Given the description of an element on the screen output the (x, y) to click on. 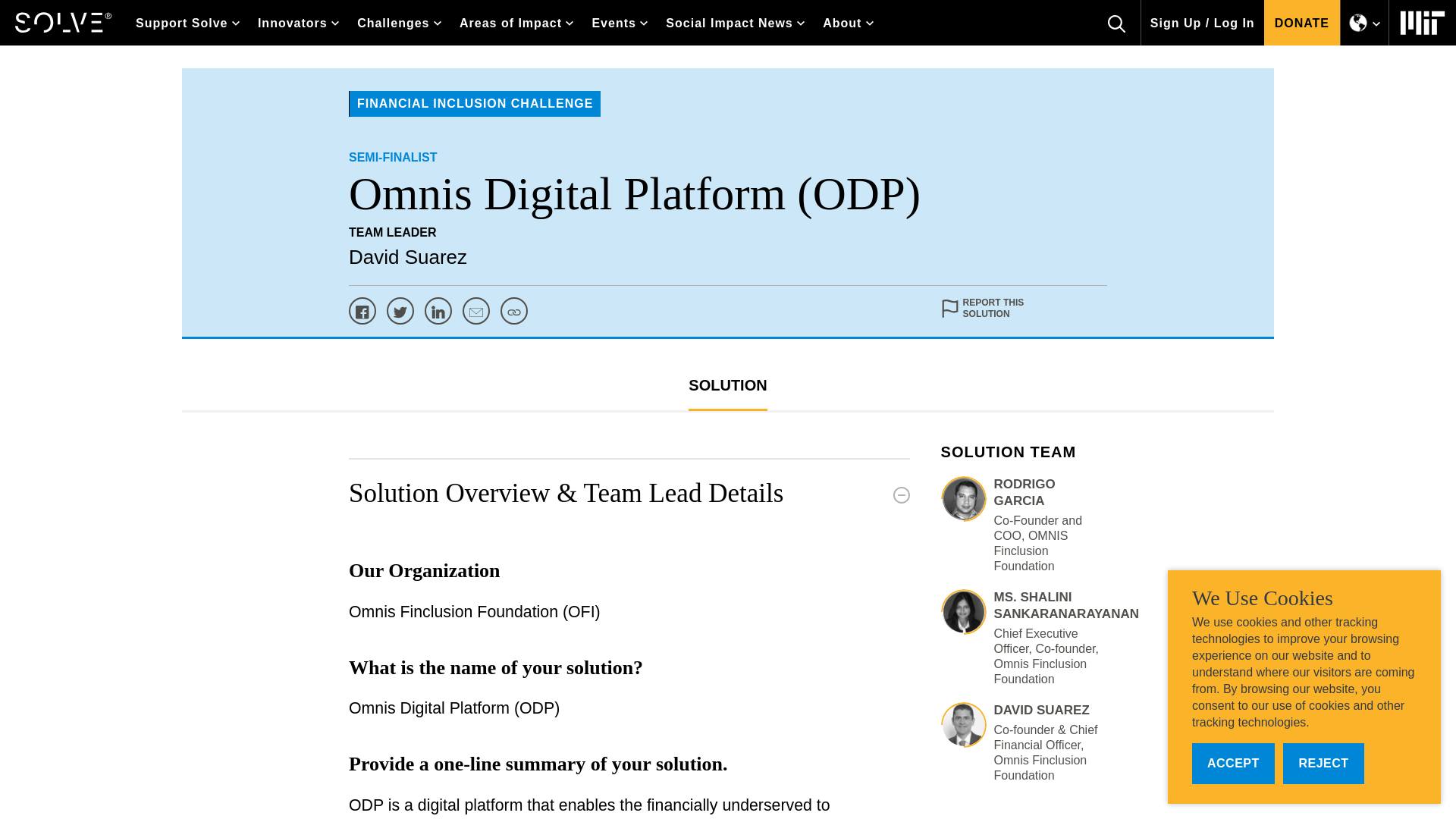
Challenges (398, 23)
Events (619, 23)
Areas of Impact (515, 23)
DONATE (1301, 22)
About (847, 23)
Support Solve (187, 23)
Social Impact News (734, 23)
Innovators (297, 23)
